Given the description of an element on the screen output the (x, y) to click on. 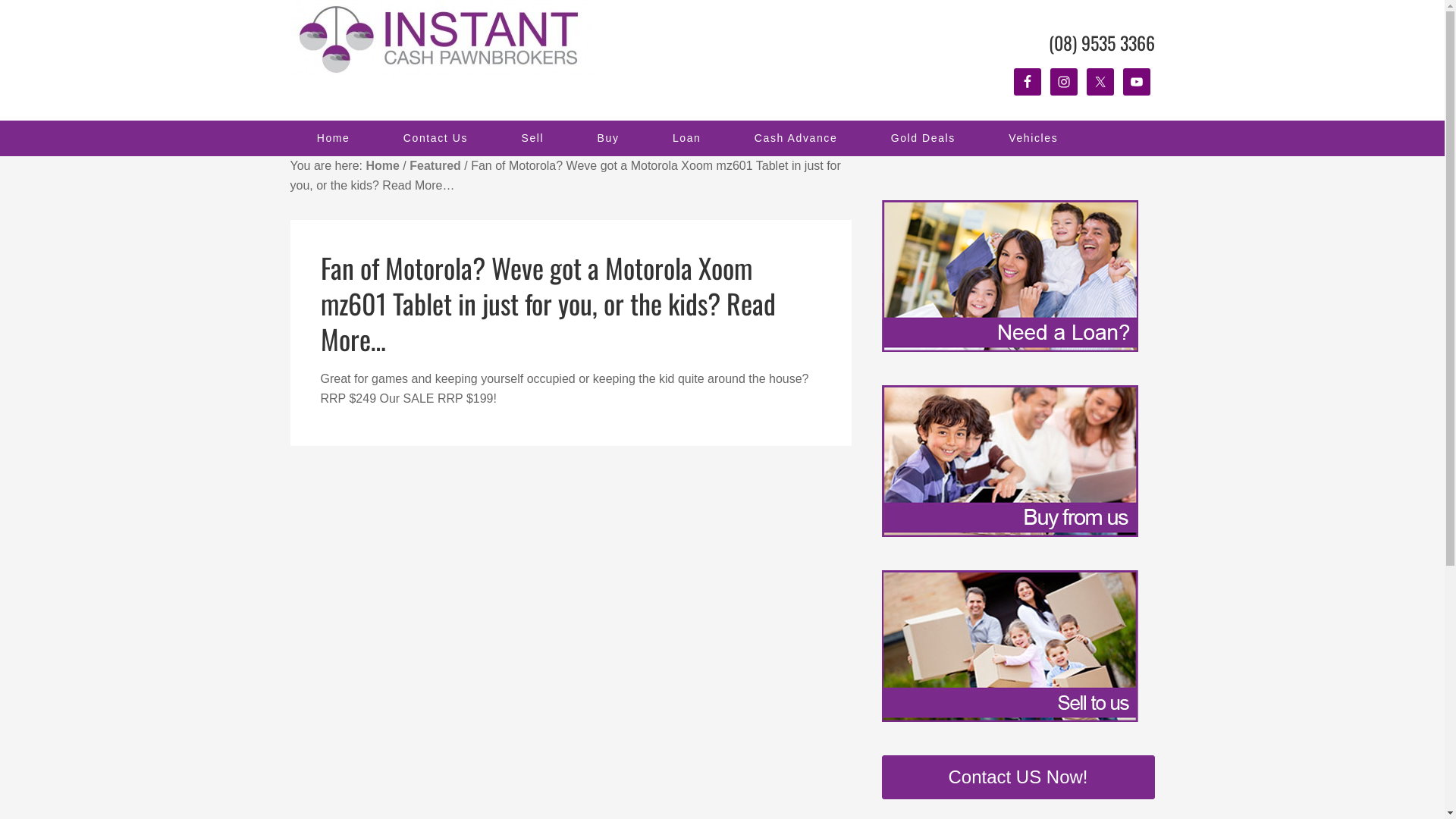
Featured Element type: text (435, 165)
Vehicles Element type: text (1033, 138)
Home Element type: text (381, 165)
Gold Deals Element type: text (922, 138)
Contact US Now! Element type: text (1017, 777)
Cash Advance Element type: text (796, 138)
Home Element type: text (332, 138)
Contact Us Element type: text (435, 138)
Sell Element type: text (532, 138)
Buy Element type: text (607, 138)
Loan Element type: text (687, 138)
Instant Cash Pawnbrokers Element type: text (441, 37)
